Given the description of an element on the screen output the (x, y) to click on. 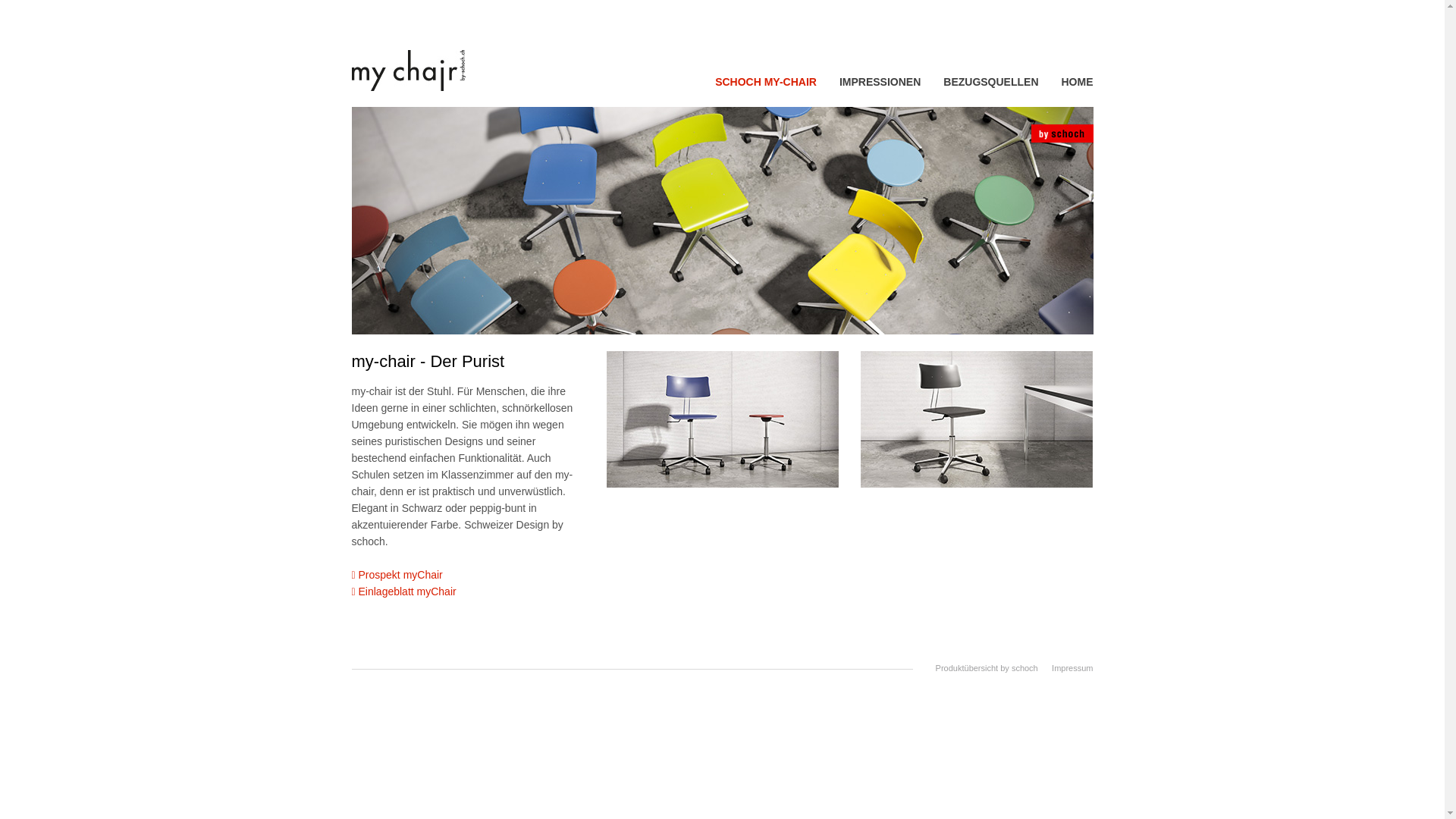
IMPRESSIONEN Element type: text (879, 81)
SCHOCH MY-CHAIR Element type: text (765, 100)
Impressum Element type: text (1071, 667)
HOME Element type: text (1077, 81)
BEZUGSQUELLEN Element type: text (990, 81)
